Given the description of an element on the screen output the (x, y) to click on. 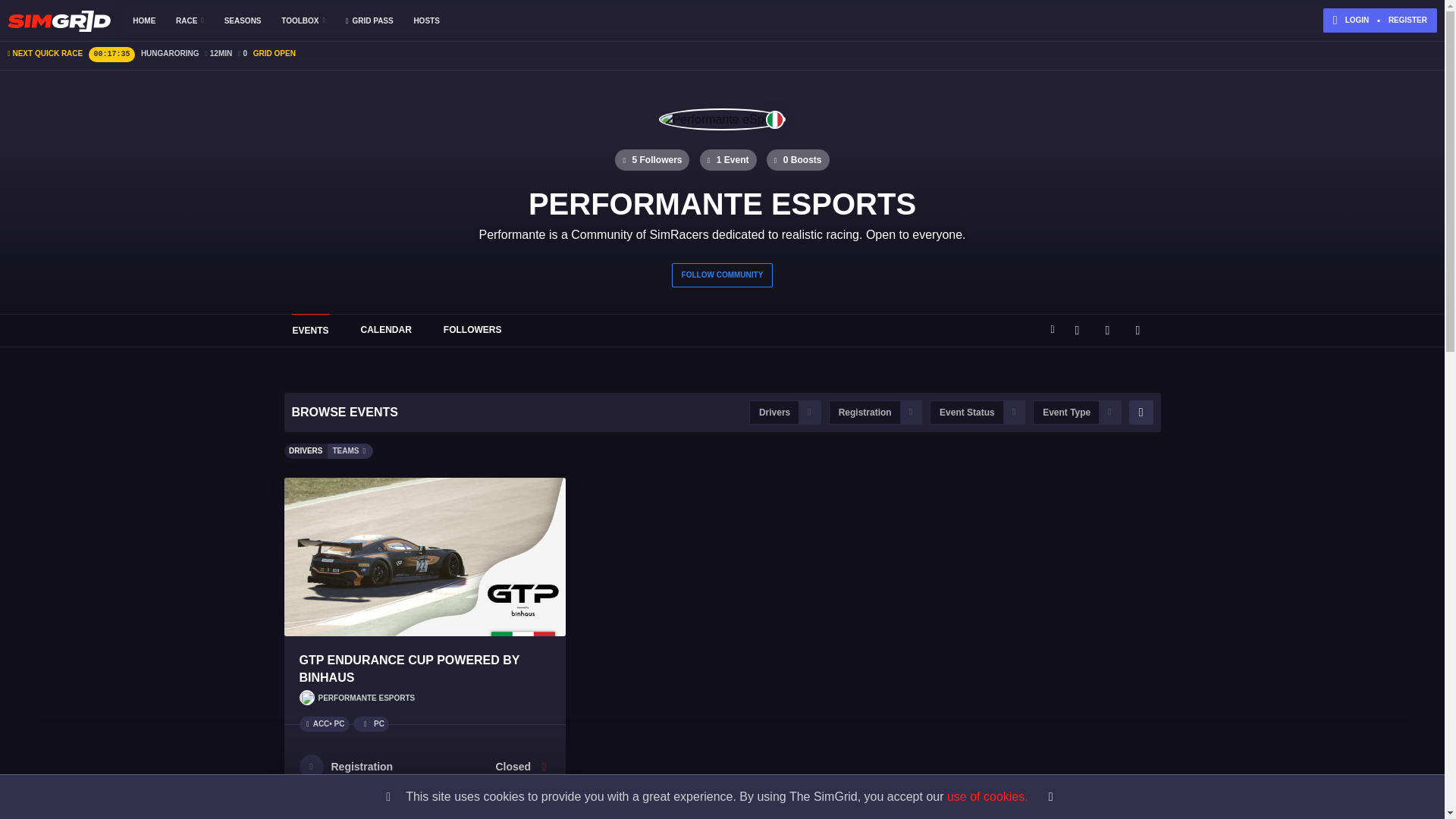
RACE (189, 20)
TOOLBOX (303, 20)
HOSTS (426, 20)
HOME (143, 20)
GRID PASS (368, 20)
SEASONS (242, 20)
use of cookies. (987, 796)
